Given the description of an element on the screen output the (x, y) to click on. 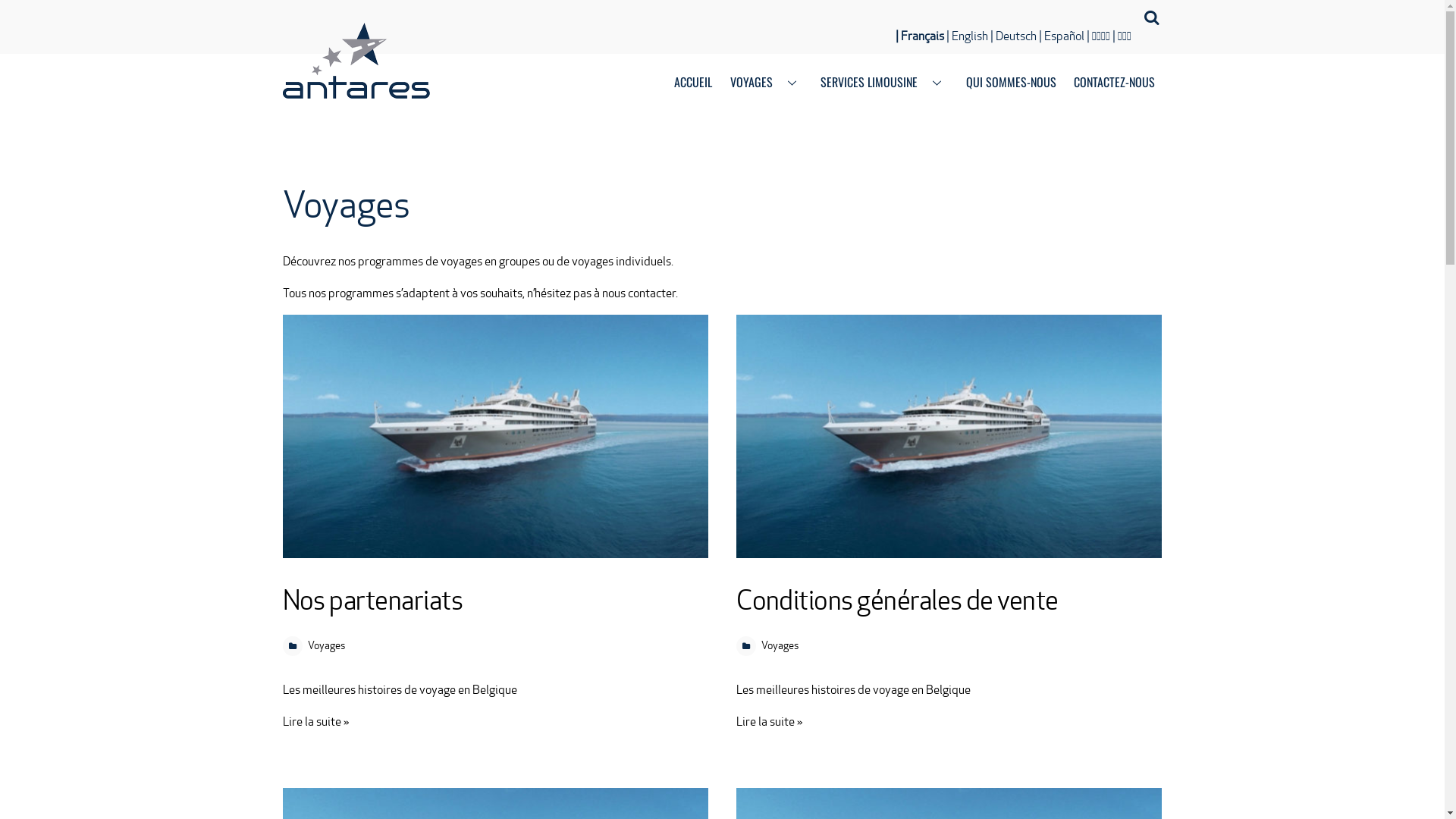
Logo-Antares-100 Element type: hover (355, 60)
SERVICES LIMOUSINE Element type: text (884, 83)
Voyages Element type: text (326, 645)
English Element type: text (967, 35)
Nos partenariats Element type: text (372, 600)
nous contacter Element type: text (638, 293)
voyages individuels Element type: text (621, 261)
Ponant_Canal_Corynthe Element type: hover (494, 436)
voyages en groupes Element type: text (489, 261)
QUI SOMMES-NOUS Element type: text (1010, 83)
Antares Tourisme Element type: hover (355, 86)
VOYAGES Element type: text (766, 83)
Ponant_Canal_Corynthe Element type: hover (948, 436)
Deutsch Element type: text (1013, 35)
Voyages Element type: text (779, 645)
Search Element type: hover (1150, 18)
CONTACTEZ-NOUS Element type: text (1113, 83)
ACCUEIL Element type: text (693, 83)
